Given the description of an element on the screen output the (x, y) to click on. 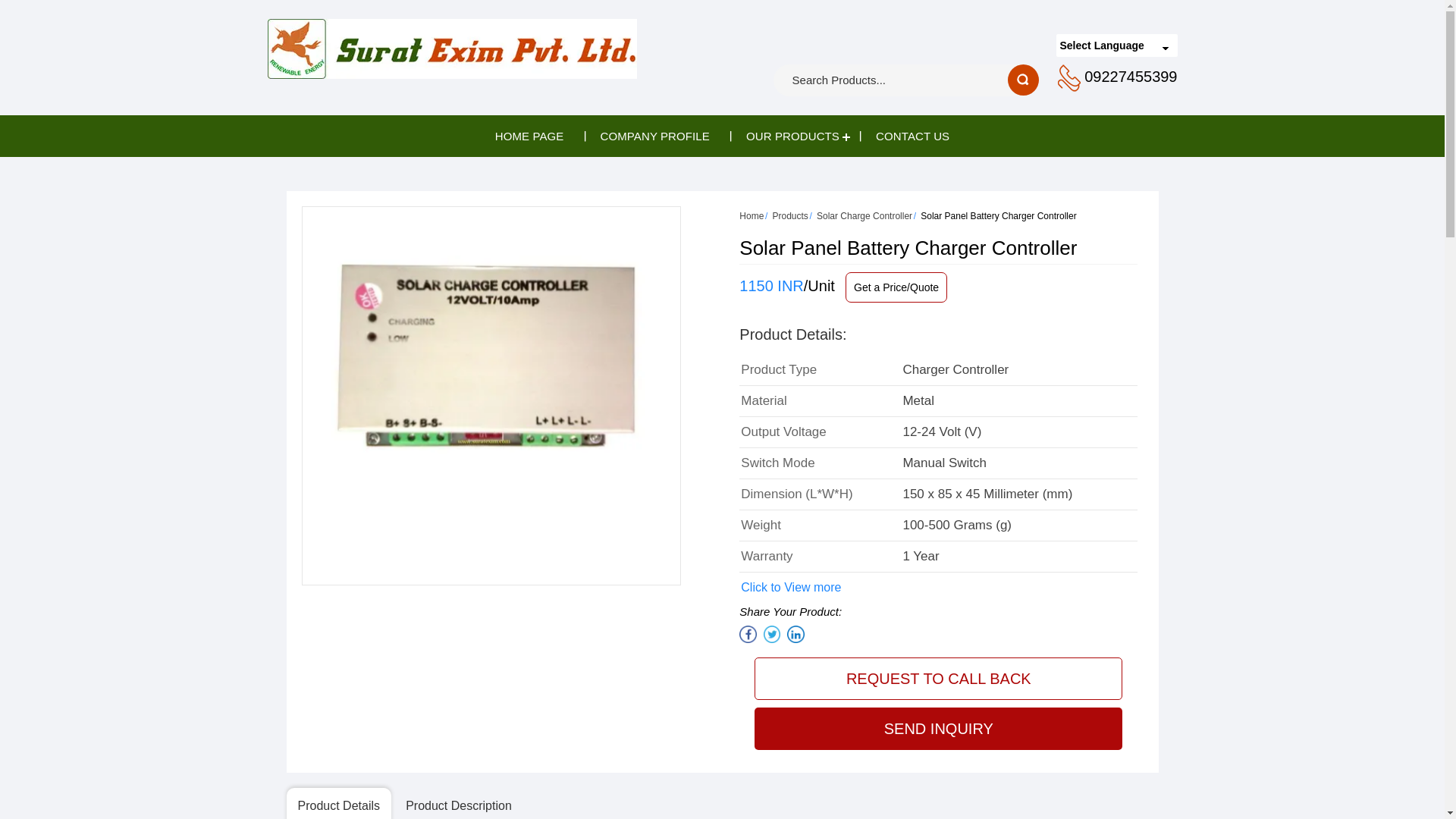
submit (1023, 79)
submit (1023, 79)
HOME PAGE (529, 136)
Select Language (1115, 45)
Search Products... (866, 80)
09227455399 (1130, 76)
OUR PRODUCTS (792, 136)
Surat Exim Pvt. Ltd. (451, 48)
COMPANY PROFILE (654, 136)
